Given the description of an element on the screen output the (x, y) to click on. 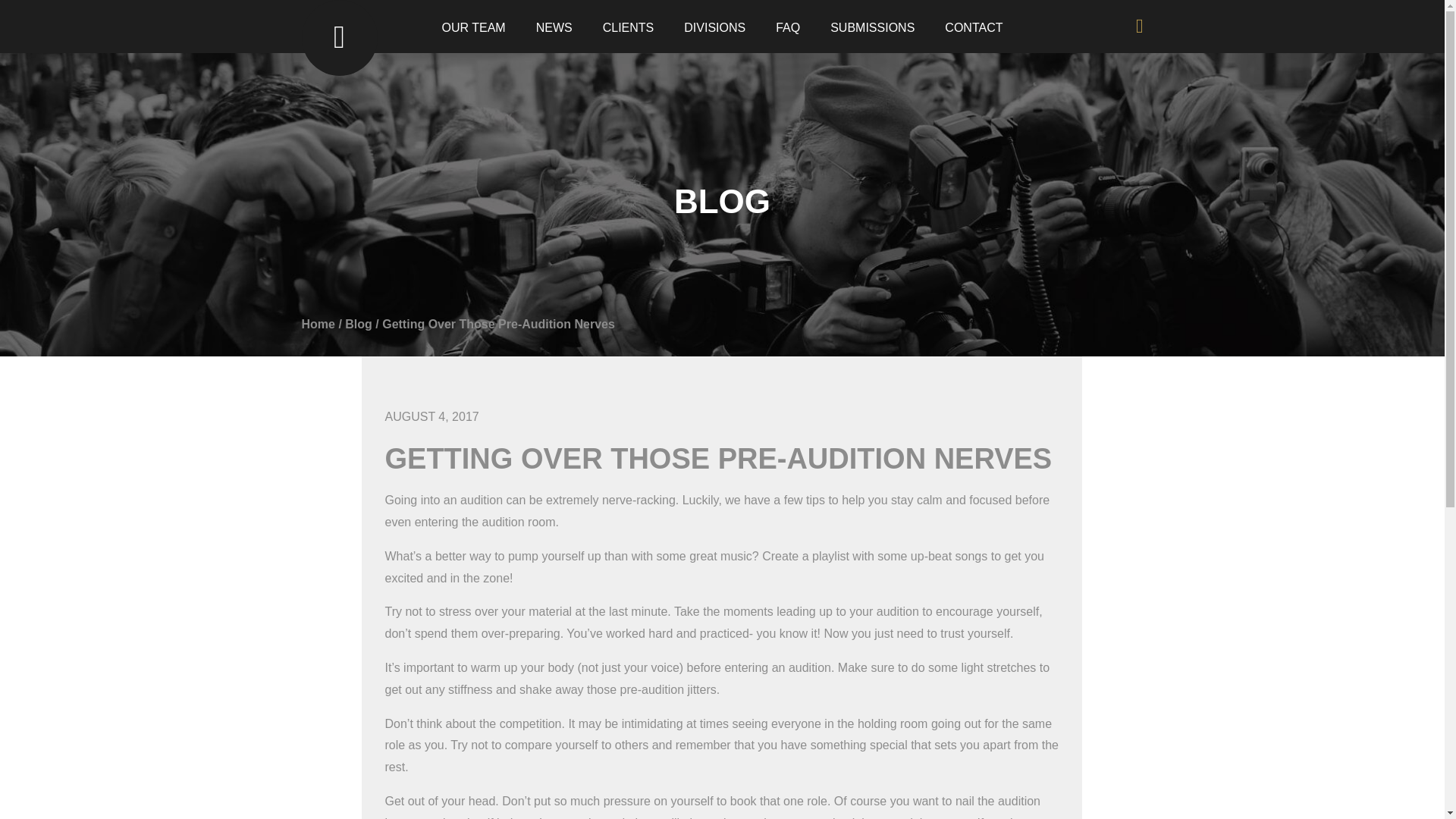
OUR TEAM (473, 27)
FAQ (787, 27)
NEWS (553, 27)
CLIENTS (627, 27)
Blog (358, 323)
DIVISIONS (714, 27)
Home (317, 323)
SUBMISSIONS (871, 27)
CONTACT (973, 27)
